Given the description of an element on the screen output the (x, y) to click on. 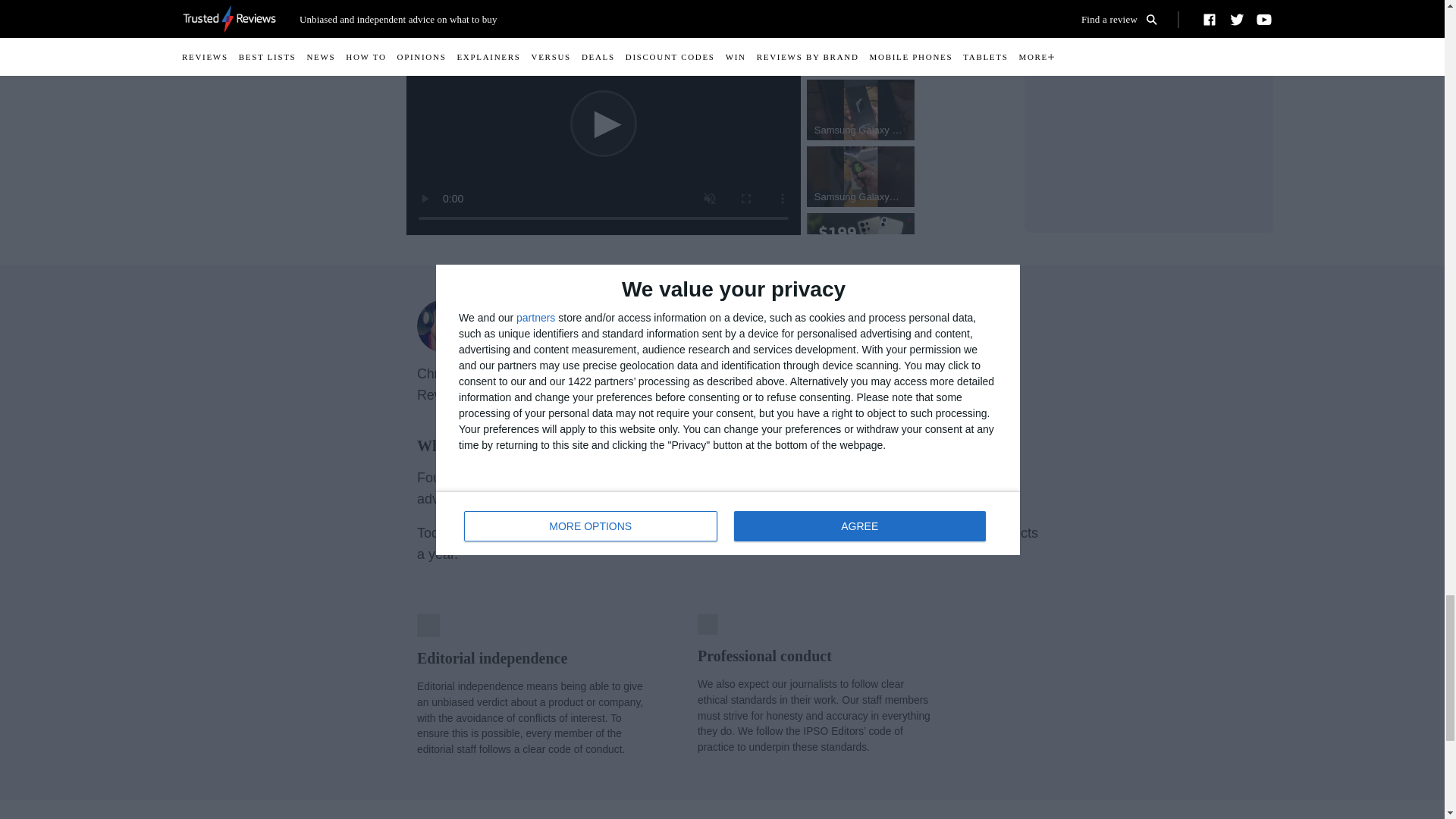
Play Video (603, 123)
